Given the description of an element on the screen output the (x, y) to click on. 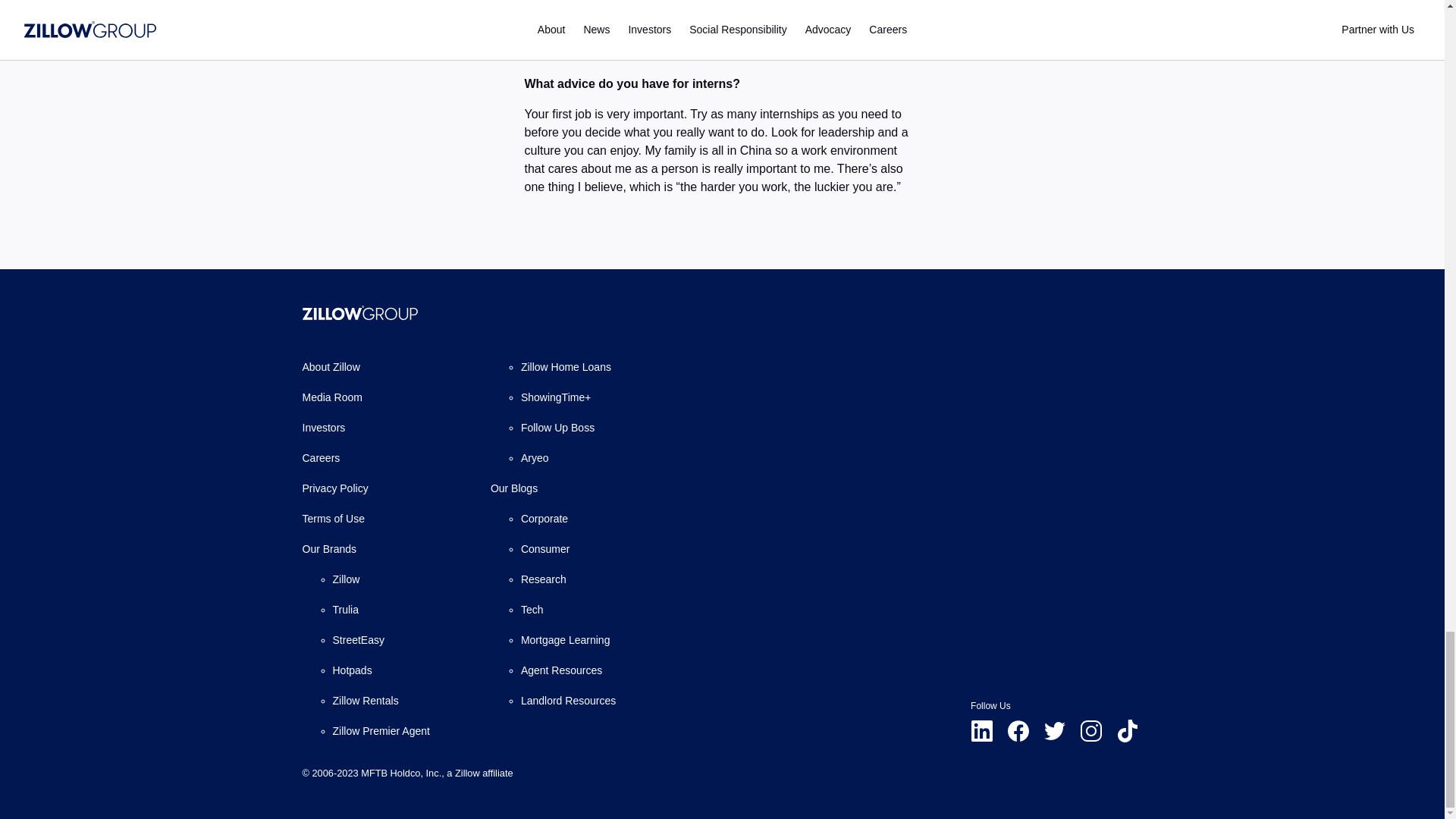
Media Room (331, 397)
Investors (323, 427)
Careers (320, 458)
About Zillow (330, 367)
